Given the description of an element on the screen output the (x, y) to click on. 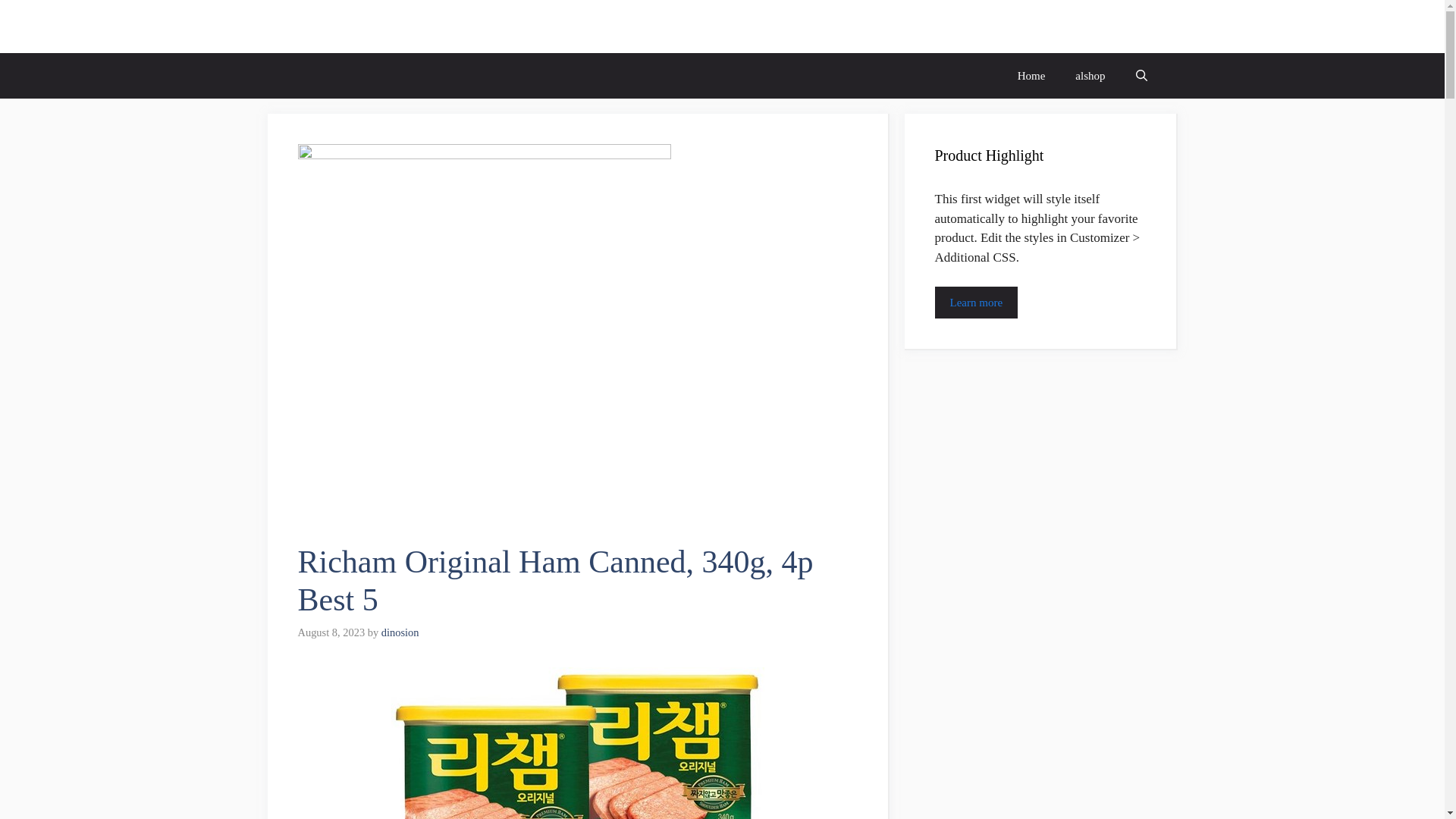
Learn more (975, 302)
Home (1032, 75)
ilikealotofmoney (364, 25)
alshop (1089, 75)
View all posts by dinosion (400, 632)
dinosion (400, 632)
